Given the description of an element on the screen output the (x, y) to click on. 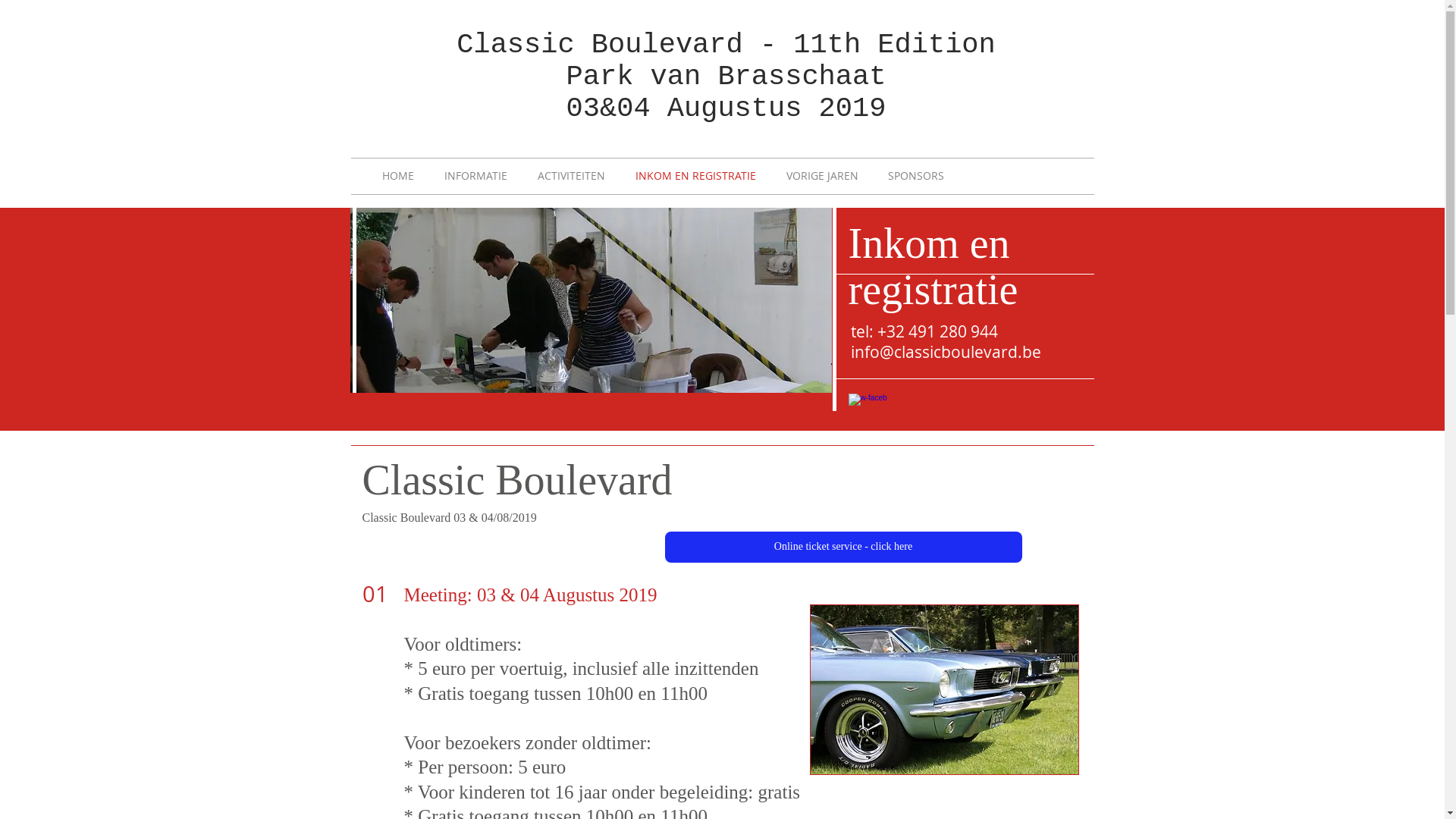
INFORMATIE Element type: text (481, 175)
HOME Element type: text (404, 175)
VORIGE JAREN Element type: text (828, 175)
info@classicboulevard.be Element type: text (945, 351)
ACTIVITEITEN Element type: text (578, 175)
INKOM EN REGISTRATIE Element type: text (701, 175)
Online ticket service - click here Element type: text (842, 546)
SPONSORS Element type: text (922, 175)
